Given the description of an element on the screen output the (x, y) to click on. 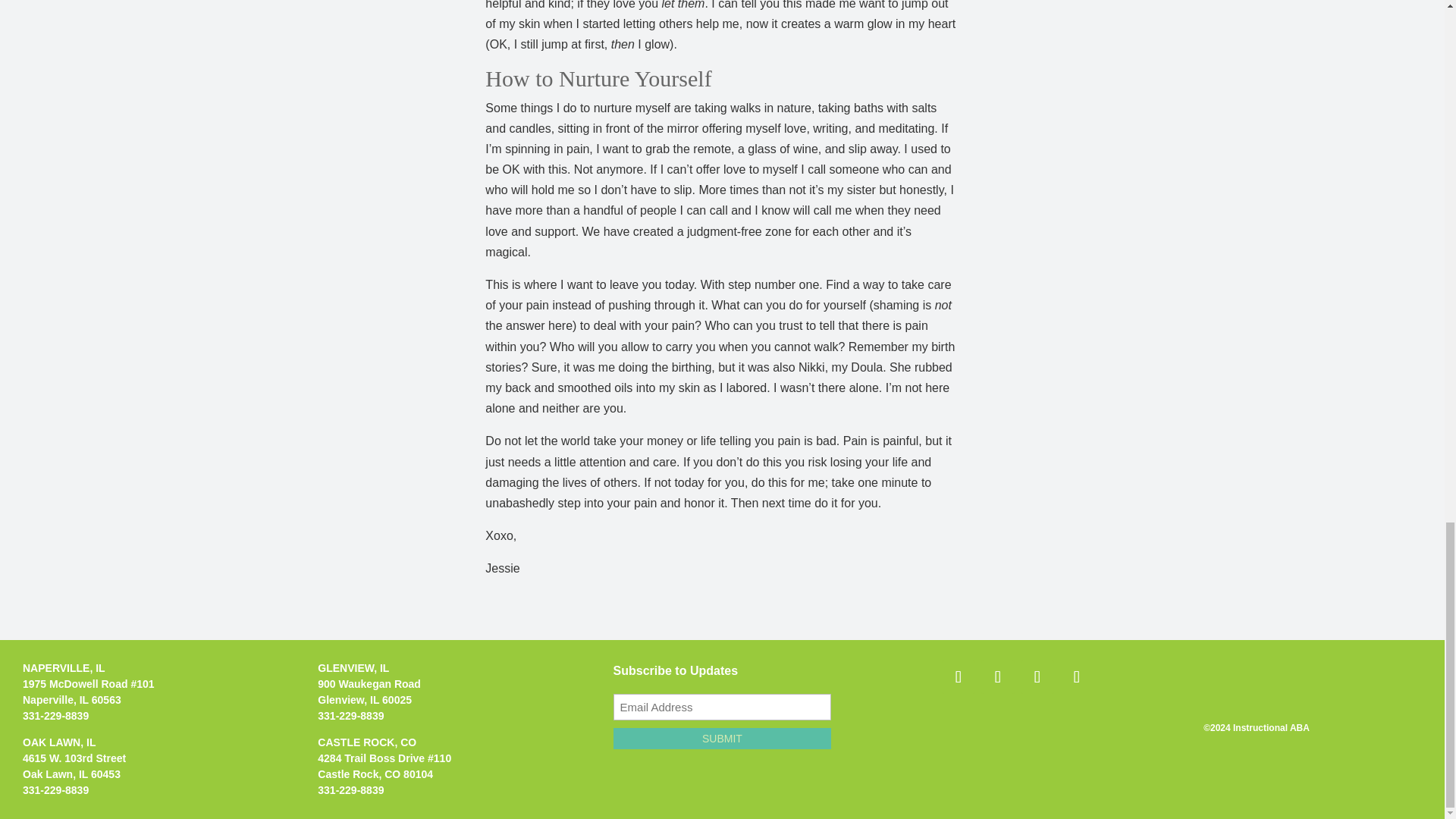
Follow on Youtube (1076, 676)
Follow on X (1037, 676)
Follow on Instagram (997, 676)
Follow on Facebook (958, 676)
Submit (721, 738)
